Given the description of an element on the screen output the (x, y) to click on. 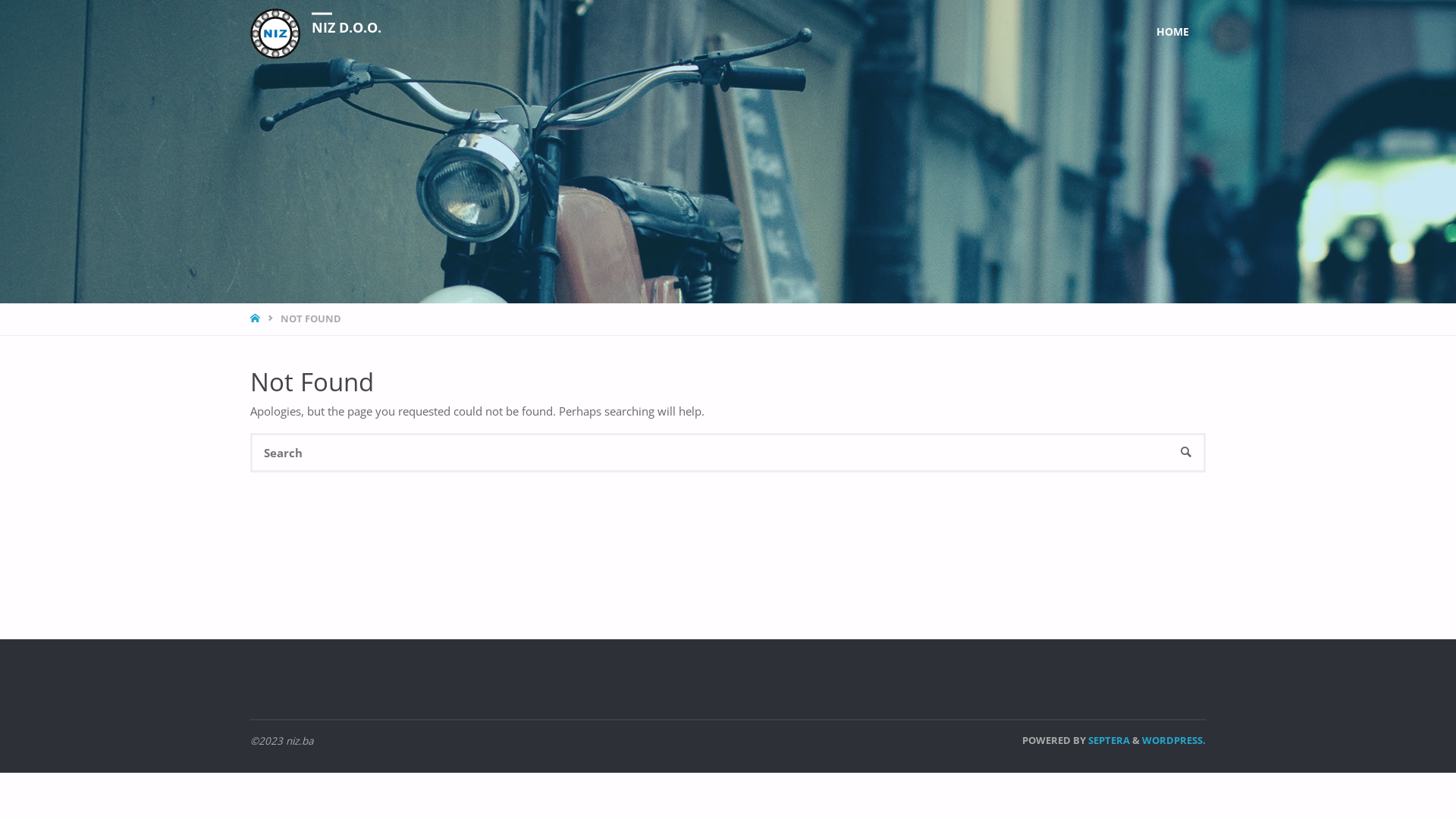
SEARCH Element type: text (1186, 453)
WORDPRESS. Element type: text (1173, 739)
HOME Element type: text (1172, 32)
NIZ d.o.o. Element type: hover (275, 31)
HOME Element type: text (256, 318)
NIZ D.O.O. Element type: text (346, 25)
SEPTERA Element type: text (1107, 739)
